Given the description of an element on the screen output the (x, y) to click on. 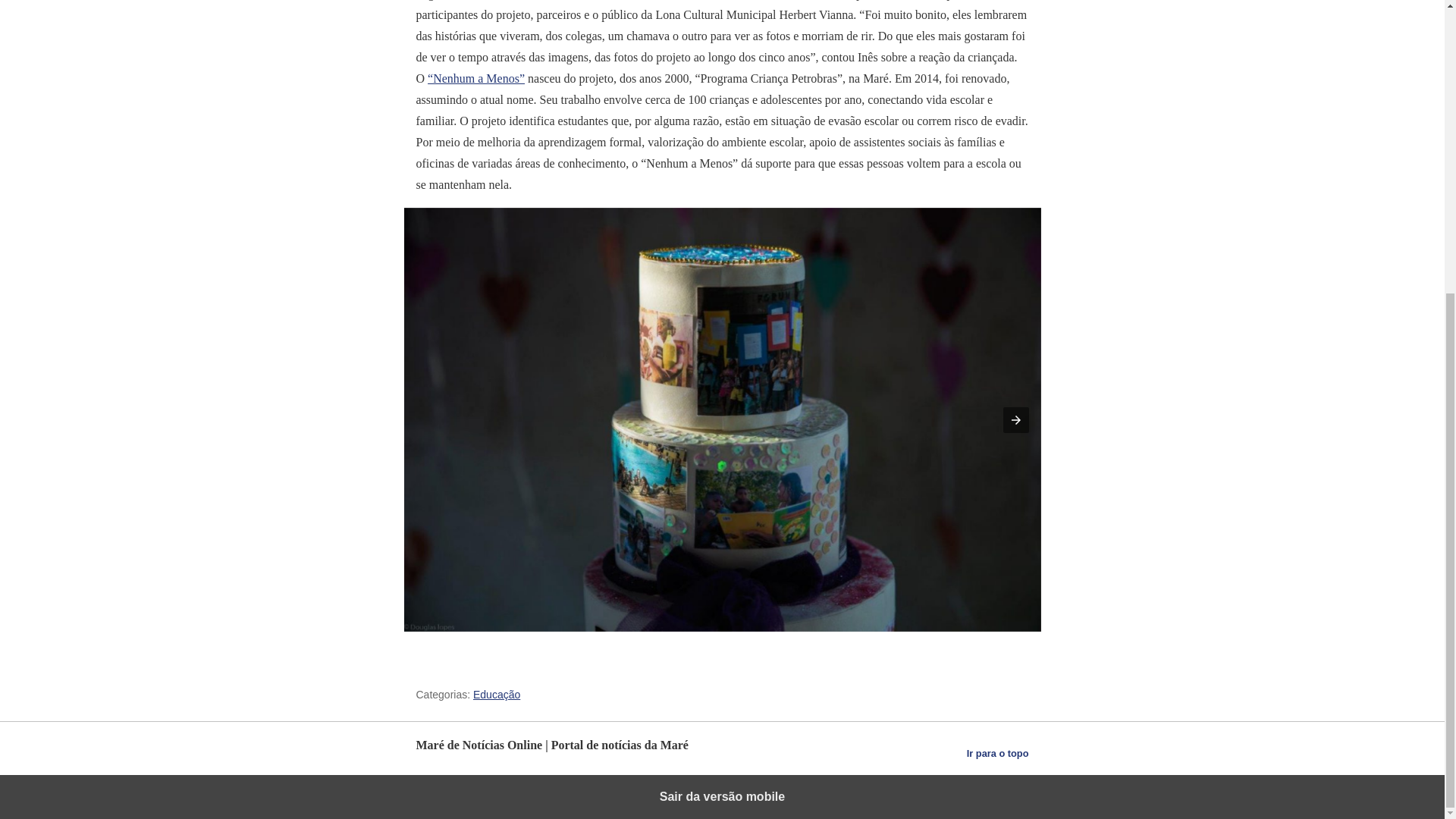
Ir para o topo (997, 753)
